Given the description of an element on the screen output the (x, y) to click on. 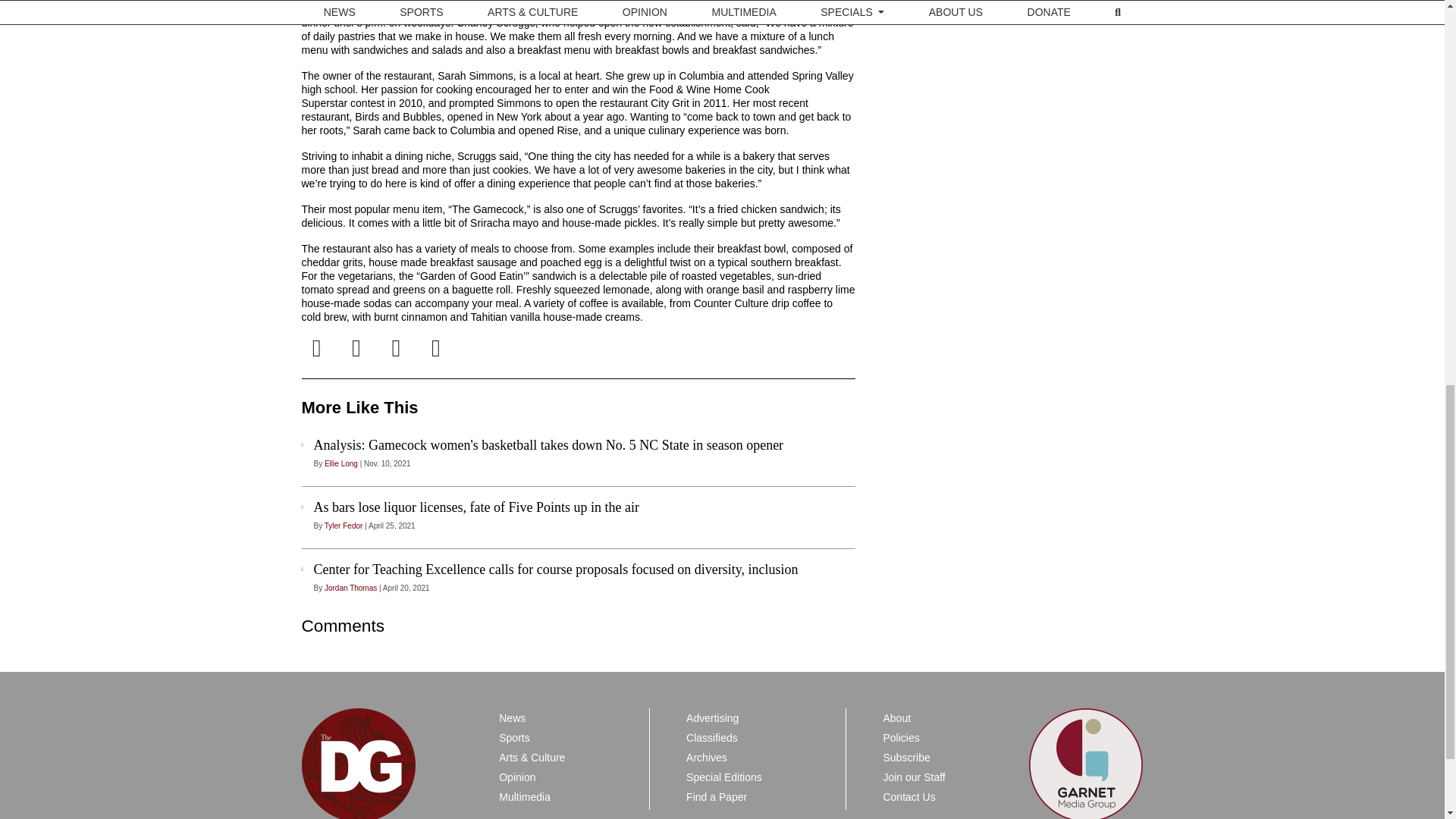
Ellie Long (341, 463)
